Given the description of an element on the screen output the (x, y) to click on. 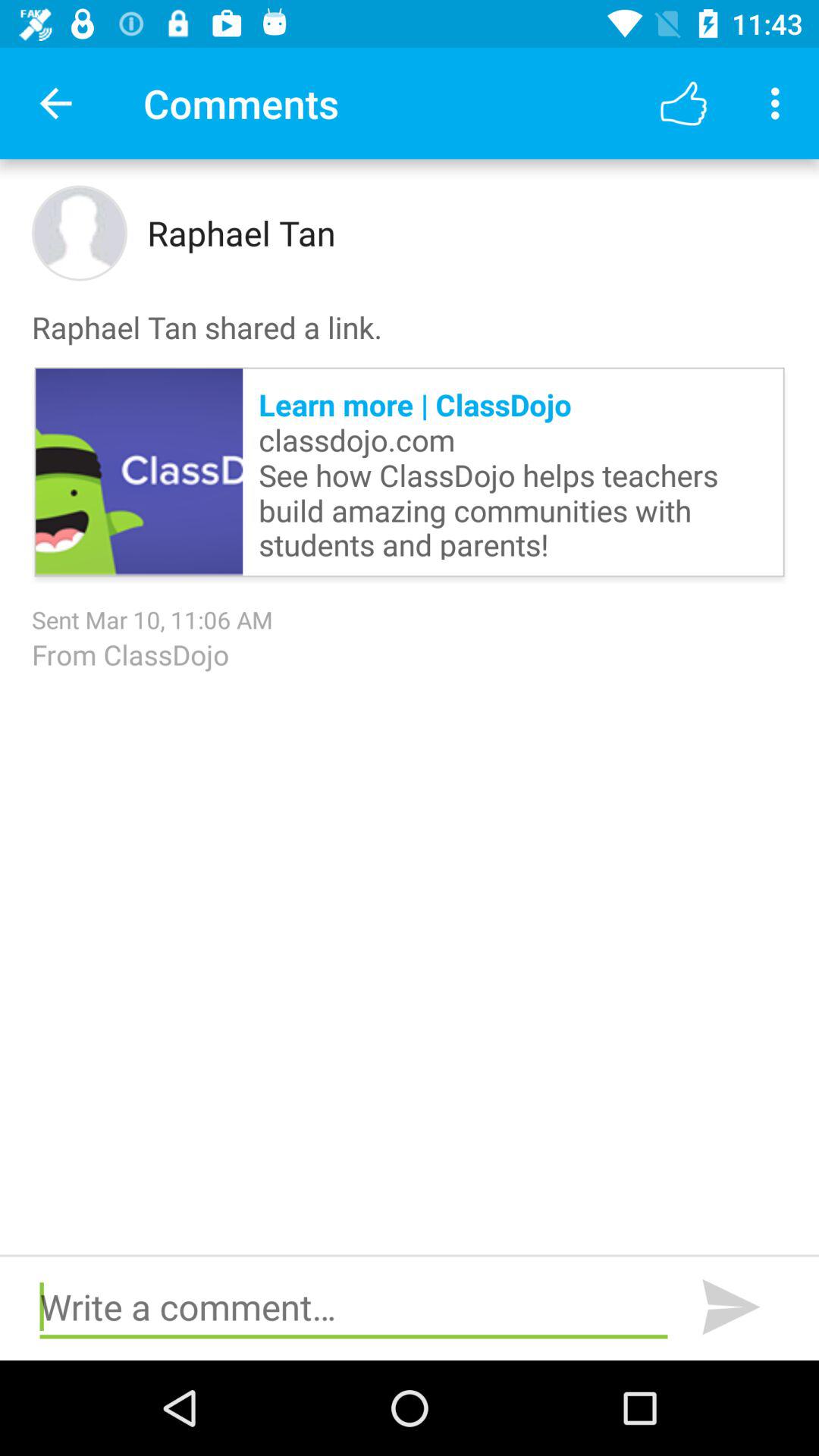
click the item above sent mar 10 (138, 471)
